Given the description of an element on the screen output the (x, y) to click on. 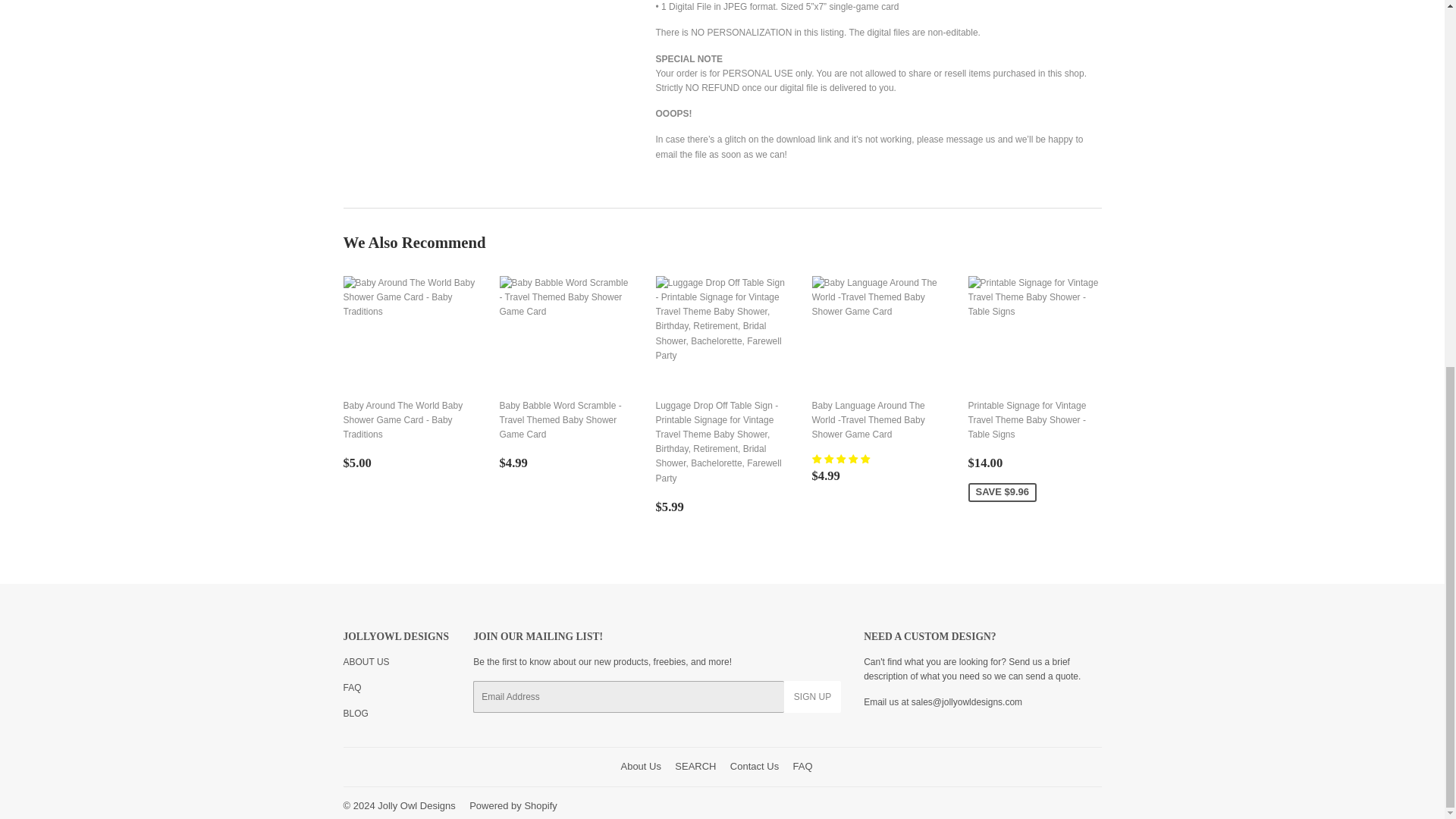
ABOUT US (365, 661)
FREQUENTLY ASKED QUESTIONS (351, 687)
Contact Us (966, 701)
